Given the description of an element on the screen output the (x, y) to click on. 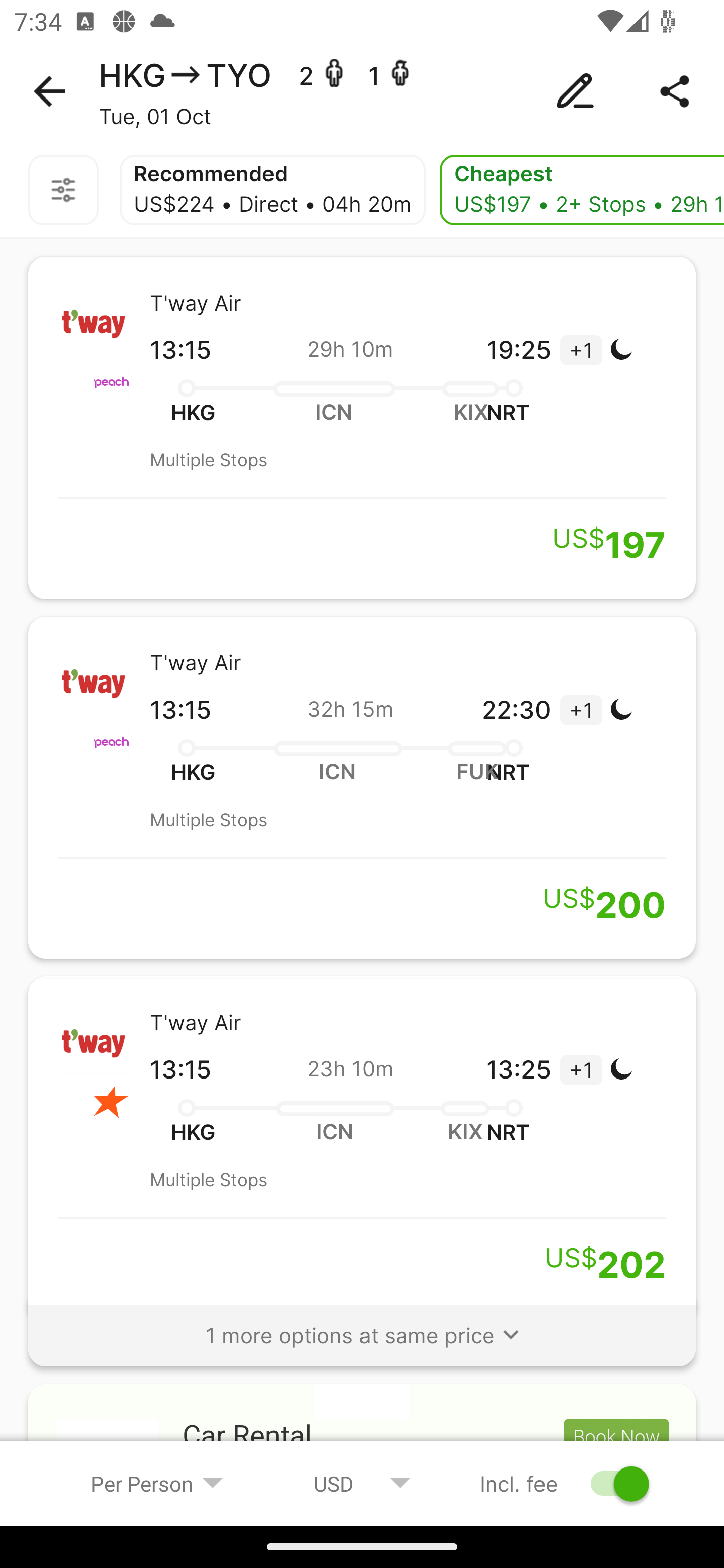
HKG TYO   2 -   1 - Tue, 01 Oct (361, 91)
Recommended  US$224 • Direct • 04h 20m (272, 190)
Cheapest US$197 • 2+ Stops • 29h 10m (582, 190)
1 more options at same price (361, 1326)
Per Person (156, 1482)
USD (361, 1482)
